Given the description of an element on the screen output the (x, y) to click on. 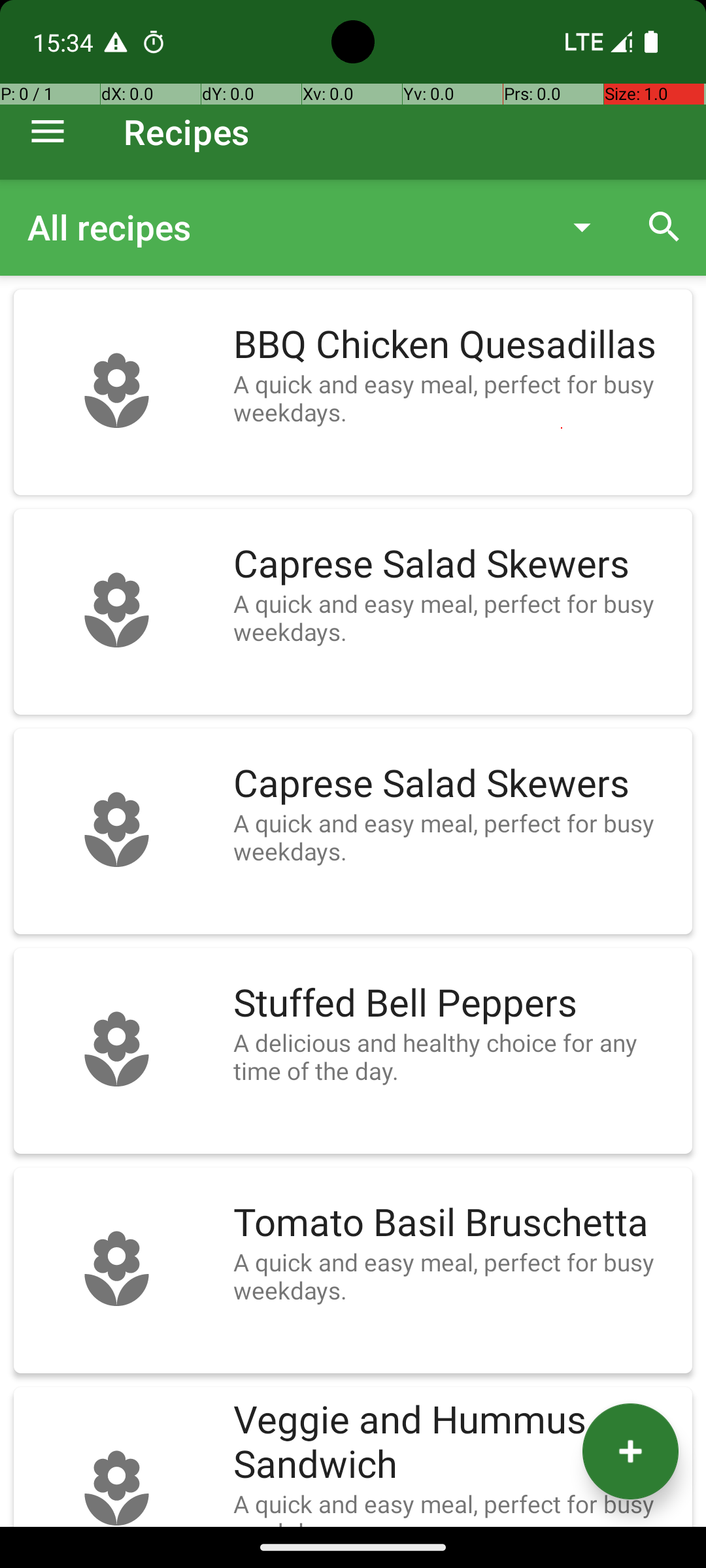
Stuffed Bell Peppers Element type: android.widget.TextView (455, 1003)
Tomato Basil Bruschetta Element type: android.widget.TextView (455, 1222)
Veggie and Hummus Sandwich Element type: android.widget.TextView (455, 1442)
